Given the description of an element on the screen output the (x, y) to click on. 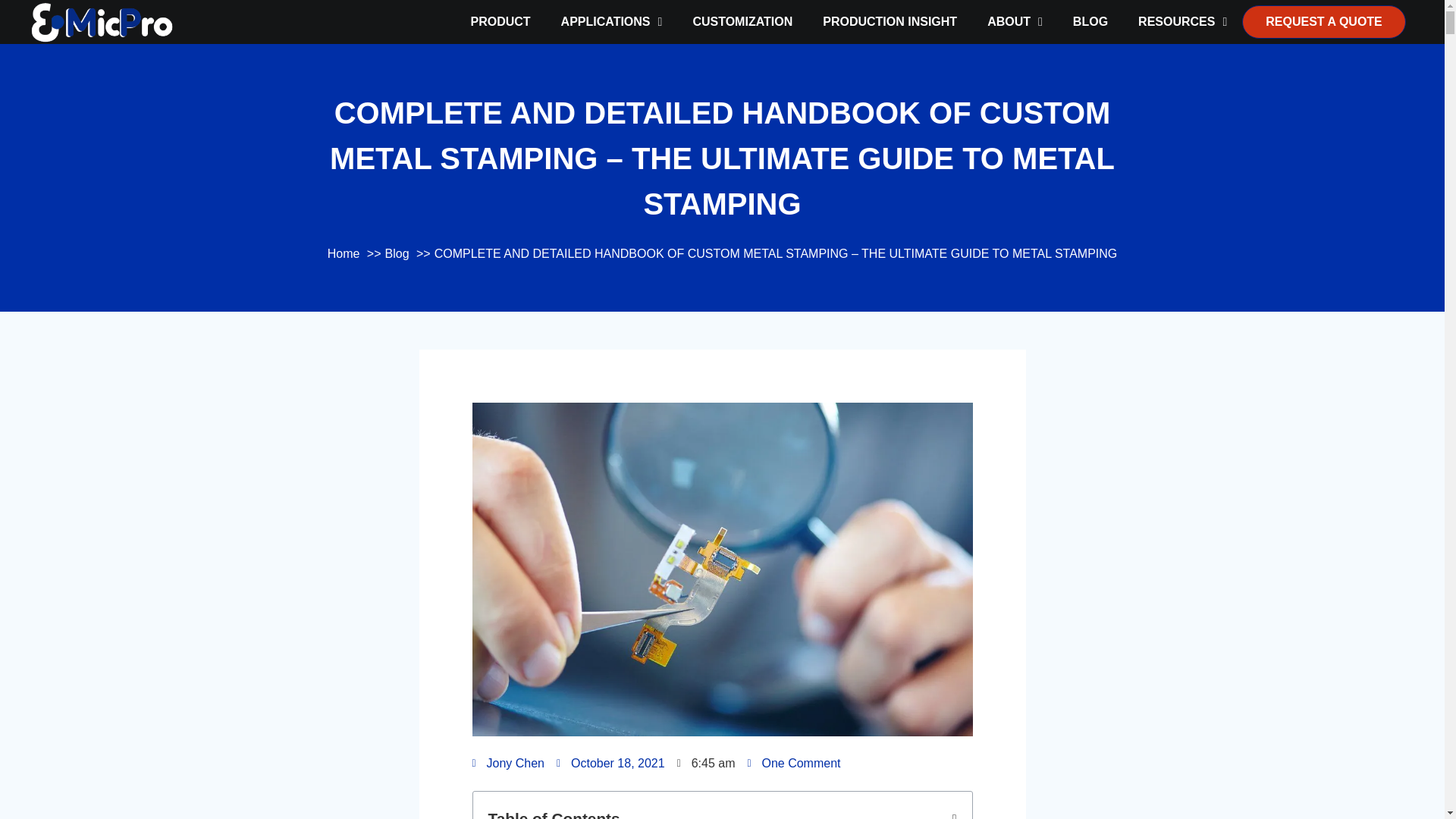
RESOURCES (1181, 22)
Jony Chen (507, 763)
ABOUT (1015, 22)
BLOG (1090, 22)
Blog (397, 253)
CUSTOMIZATION (742, 22)
PRODUCTION INSIGHT (890, 22)
Home (343, 253)
APPLICATIONS (612, 22)
PRODUCT (499, 22)
October 18, 2021 (610, 763)
REQUEST A QUOTE (1323, 21)
